Given the description of an element on the screen output the (x, y) to click on. 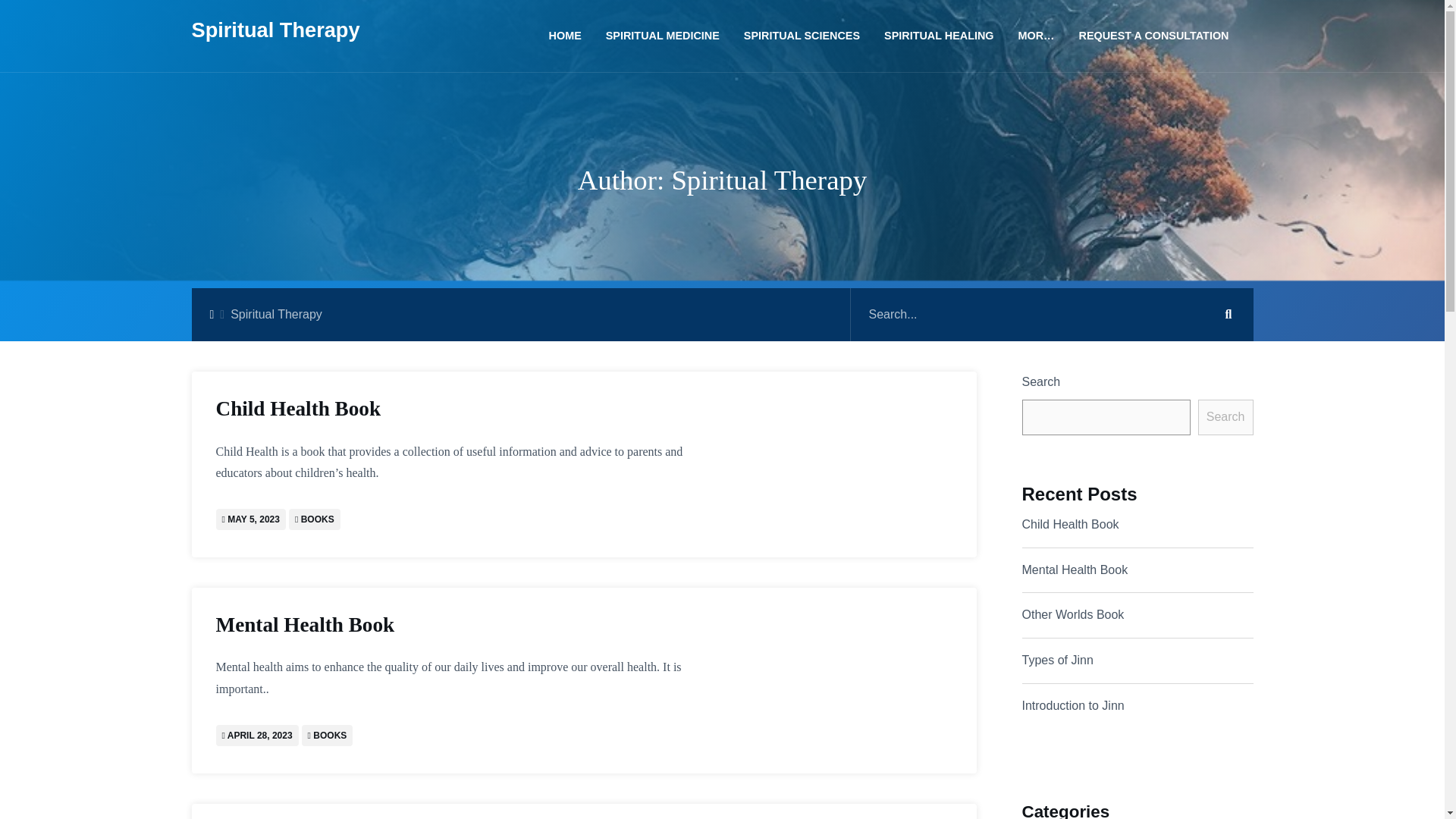
BOOKS (329, 735)
BOOKS (317, 519)
APRIL 28, 2023 (259, 735)
SPIRITUAL SCIENCES (802, 36)
Spiritual Therapy (274, 36)
Mental Health Book (469, 624)
SPIRITUAL HEALING (939, 36)
SPIRITUAL MEDICINE (663, 36)
Child Health Book (469, 408)
REQUEST A CONSULTATION (1146, 36)
